Given the description of an element on the screen output the (x, y) to click on. 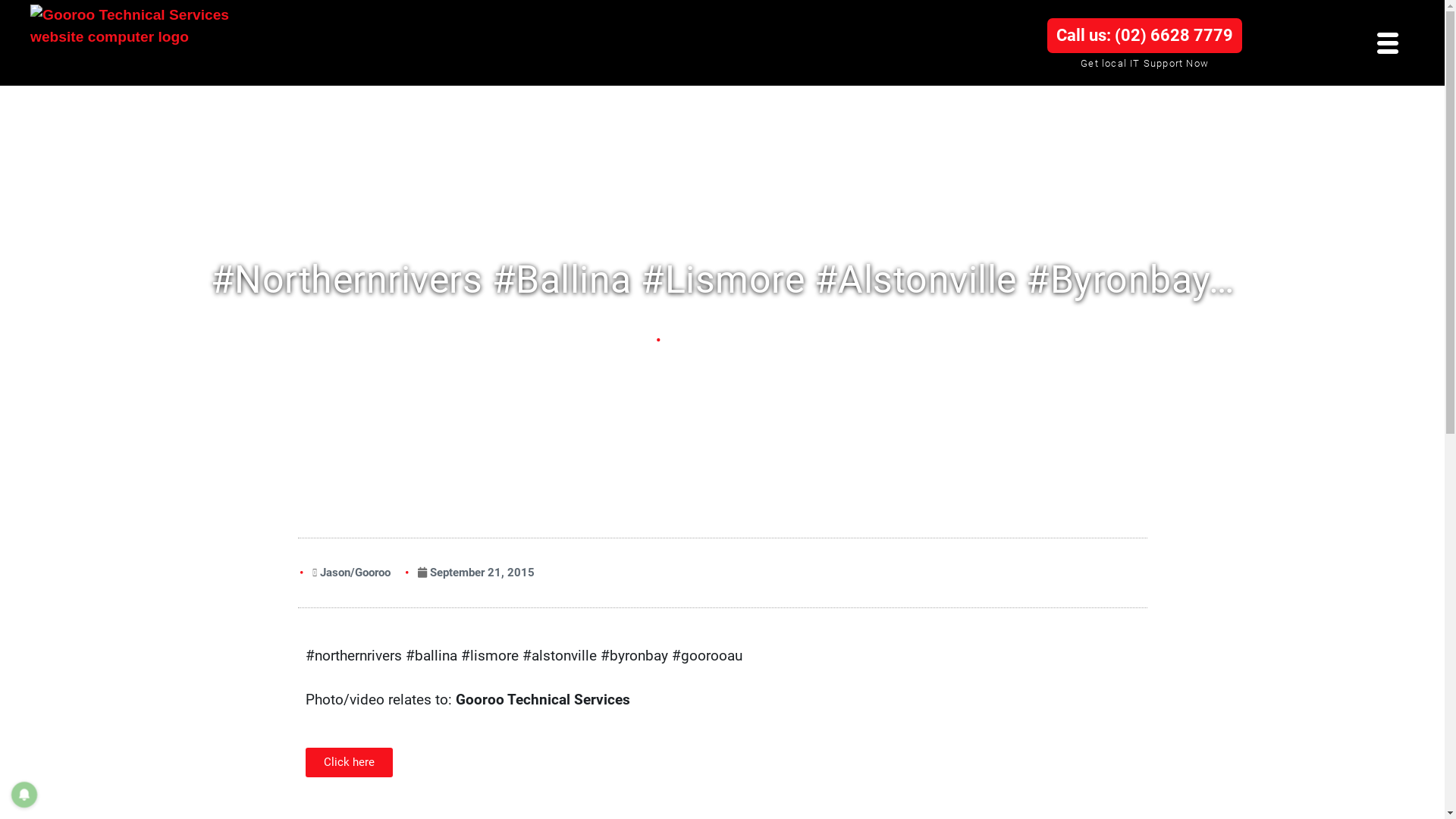
 Webpushr Element type: text (30, 765)
Jason/Gooroo Element type: text (351, 572)
INSTAGRAM Element type: text (724, 340)
September 21, 2015 Element type: text (475, 572)
Click here Element type: text (348, 762)
Call us: (02) 6628 7779 Element type: text (1144, 35)
